Given the description of an element on the screen output the (x, y) to click on. 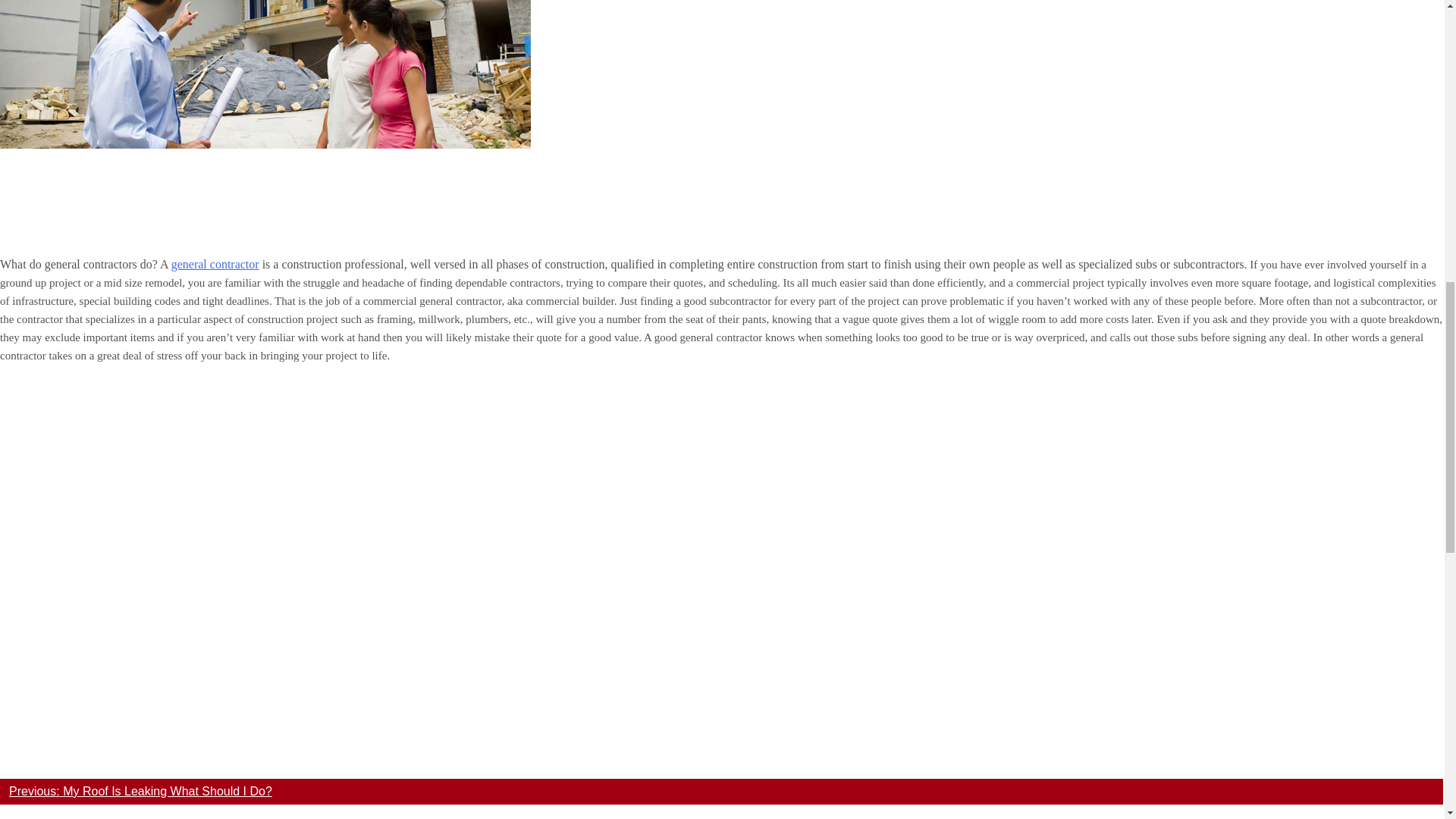
Previous: My Roof Is Leaking What Should I Do? (140, 790)
general contractor (215, 264)
